Given the description of an element on the screen output the (x, y) to click on. 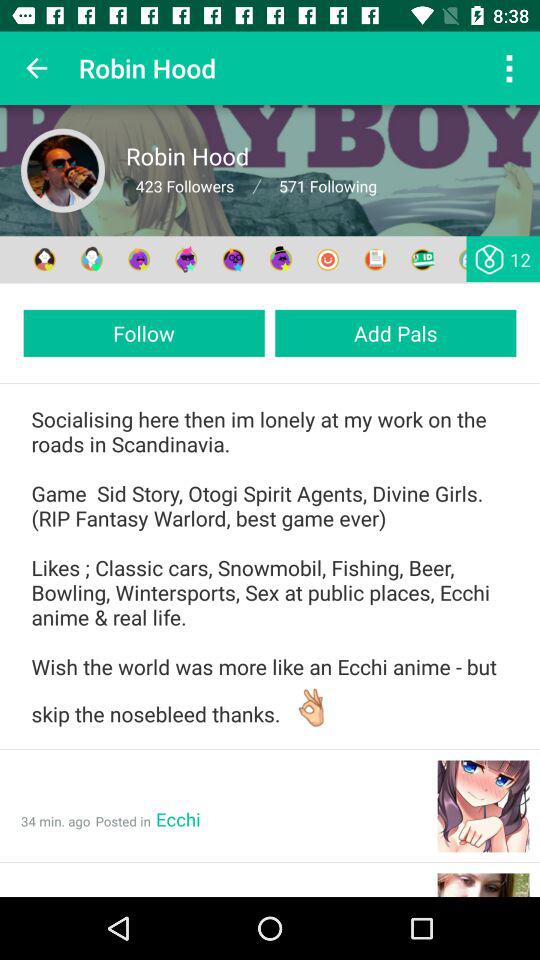
turn on icon to the left of the robin hood app (36, 68)
